Given the description of an element on the screen output the (x, y) to click on. 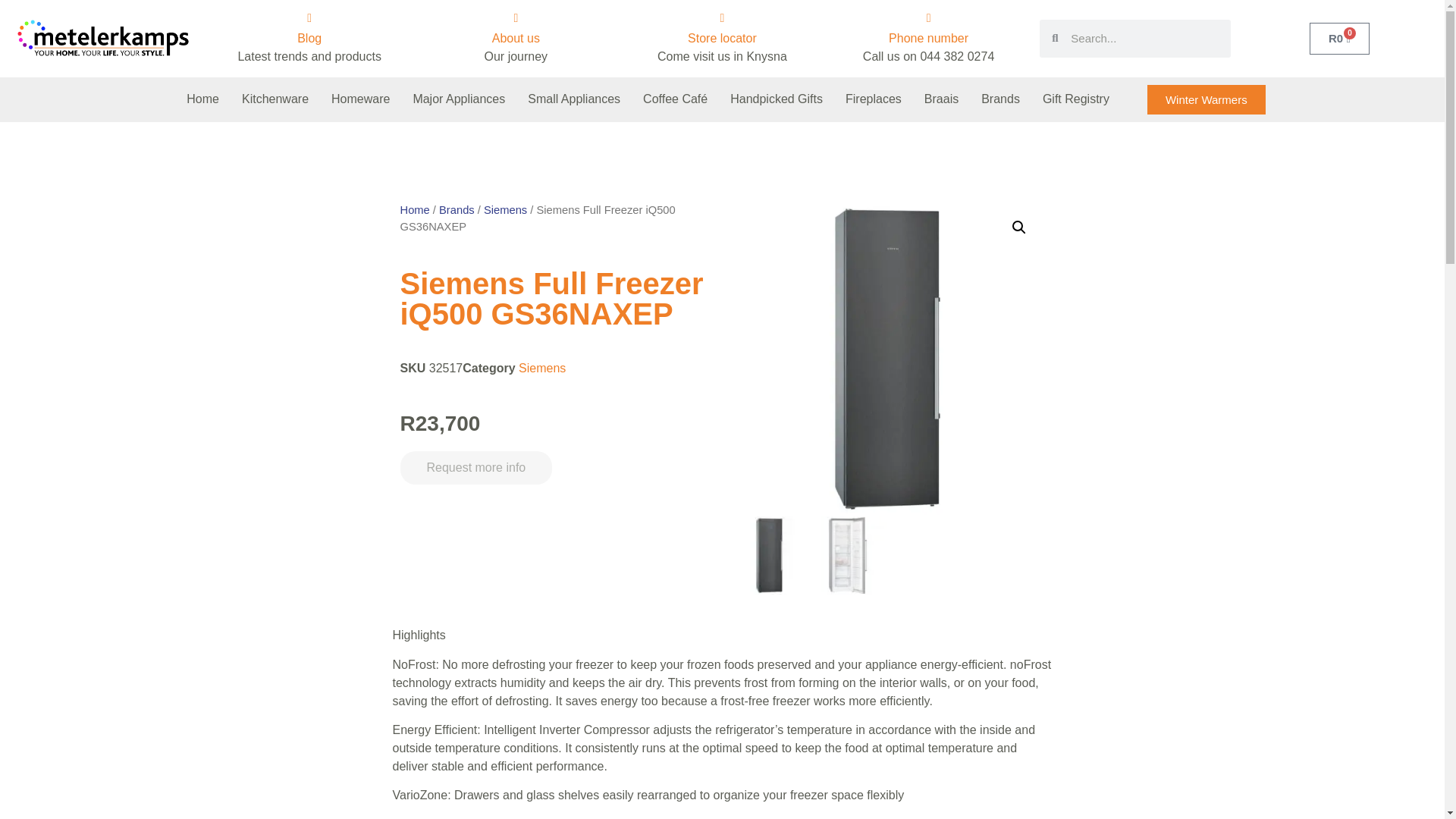
Siemens Full freezer GS36NAXEP Black Stainless Steel (886, 358)
